Given the description of an element on the screen output the (x, y) to click on. 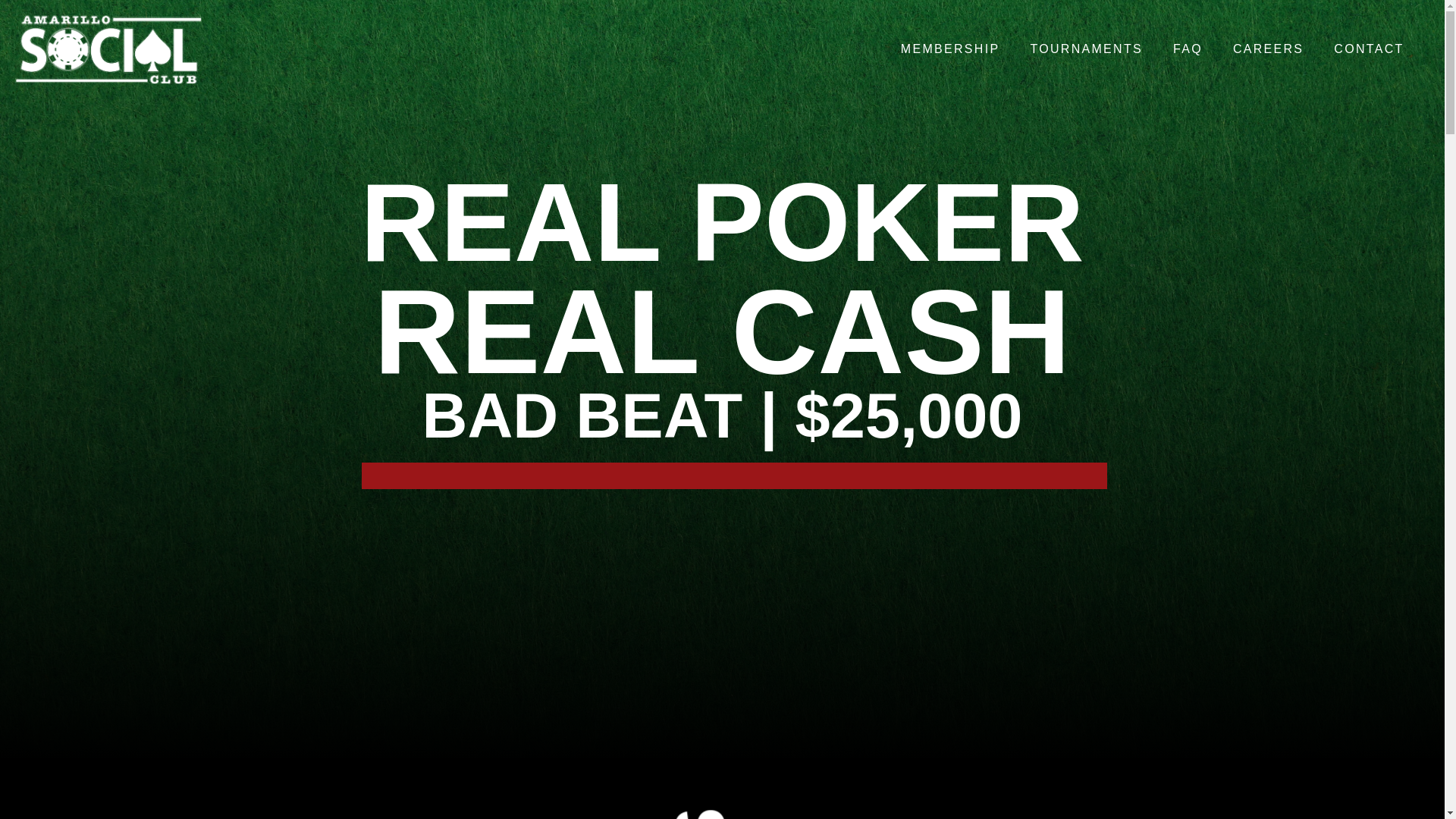
FAQ (1187, 48)
MEMBERSHIP (949, 48)
TOURNAMENTS (1085, 48)
CONTACT (1368, 48)
CAREERS (1268, 48)
